Given the description of an element on the screen output the (x, y) to click on. 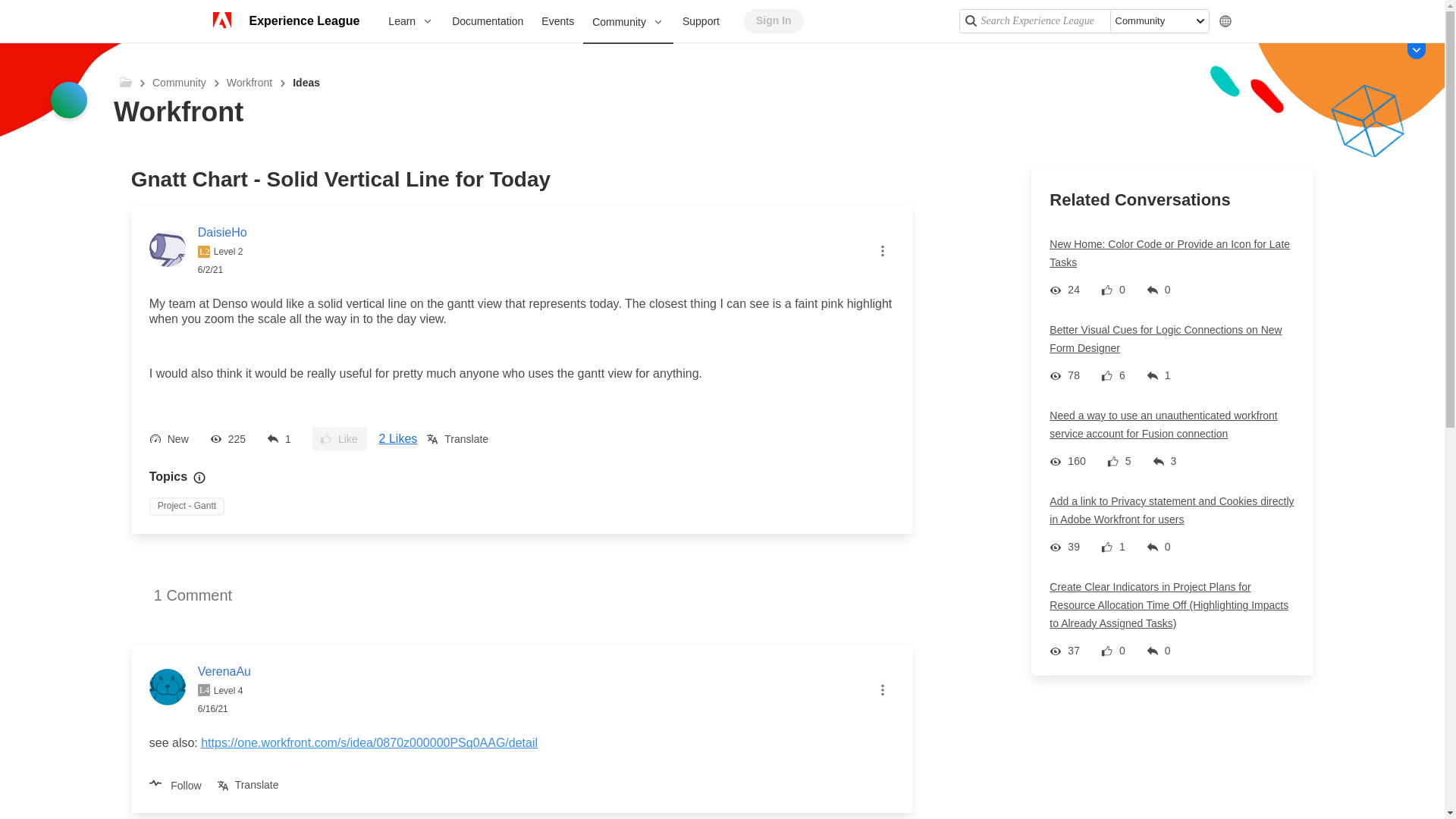
Events (557, 21)
Learn (410, 21)
Experience League (304, 21)
Learn (410, 21)
Experience League (304, 21)
Community (627, 22)
Documentation (487, 21)
Search (969, 20)
